Given the description of an element on the screen output the (x, y) to click on. 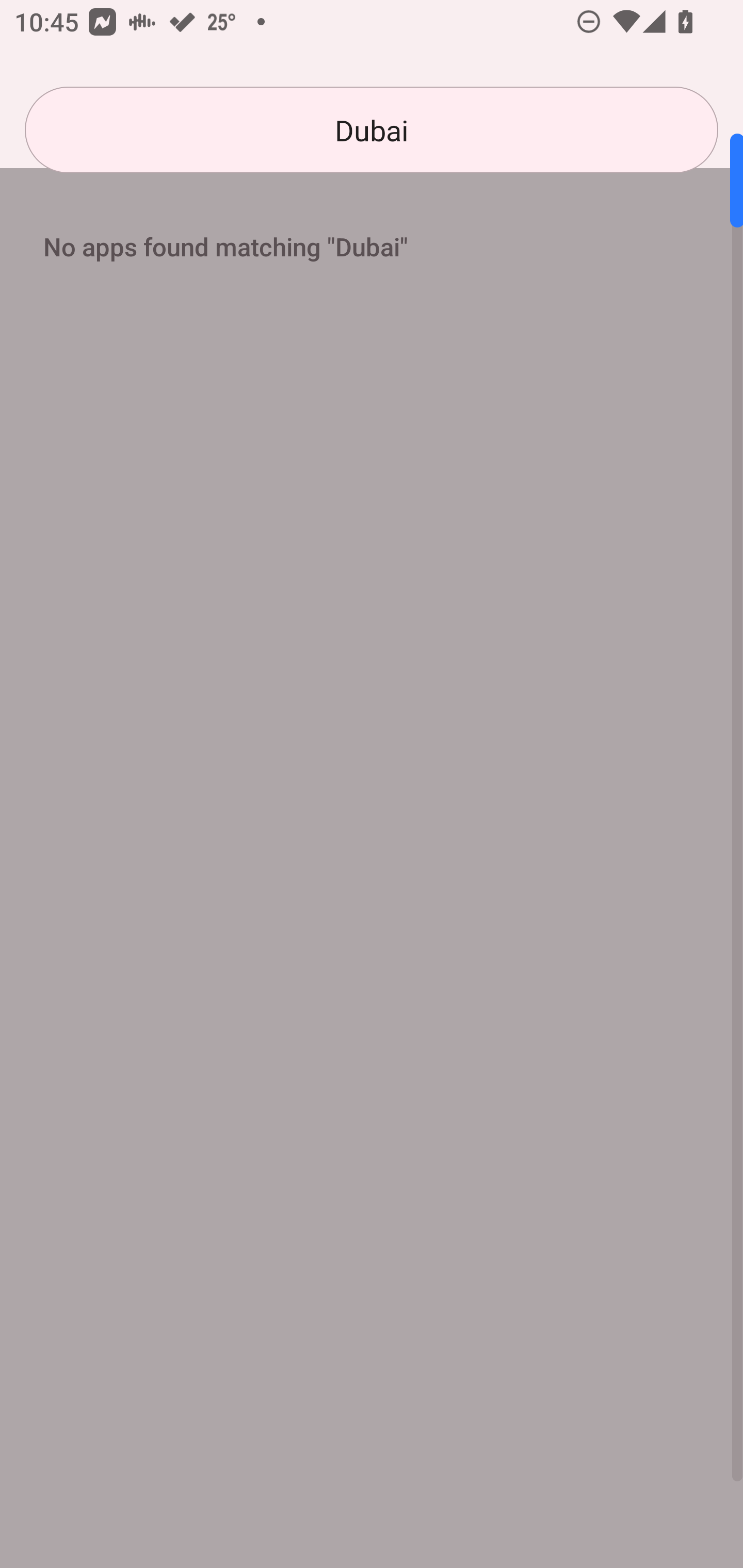
Dubai (371, 130)
